Given the description of an element on the screen output the (x, y) to click on. 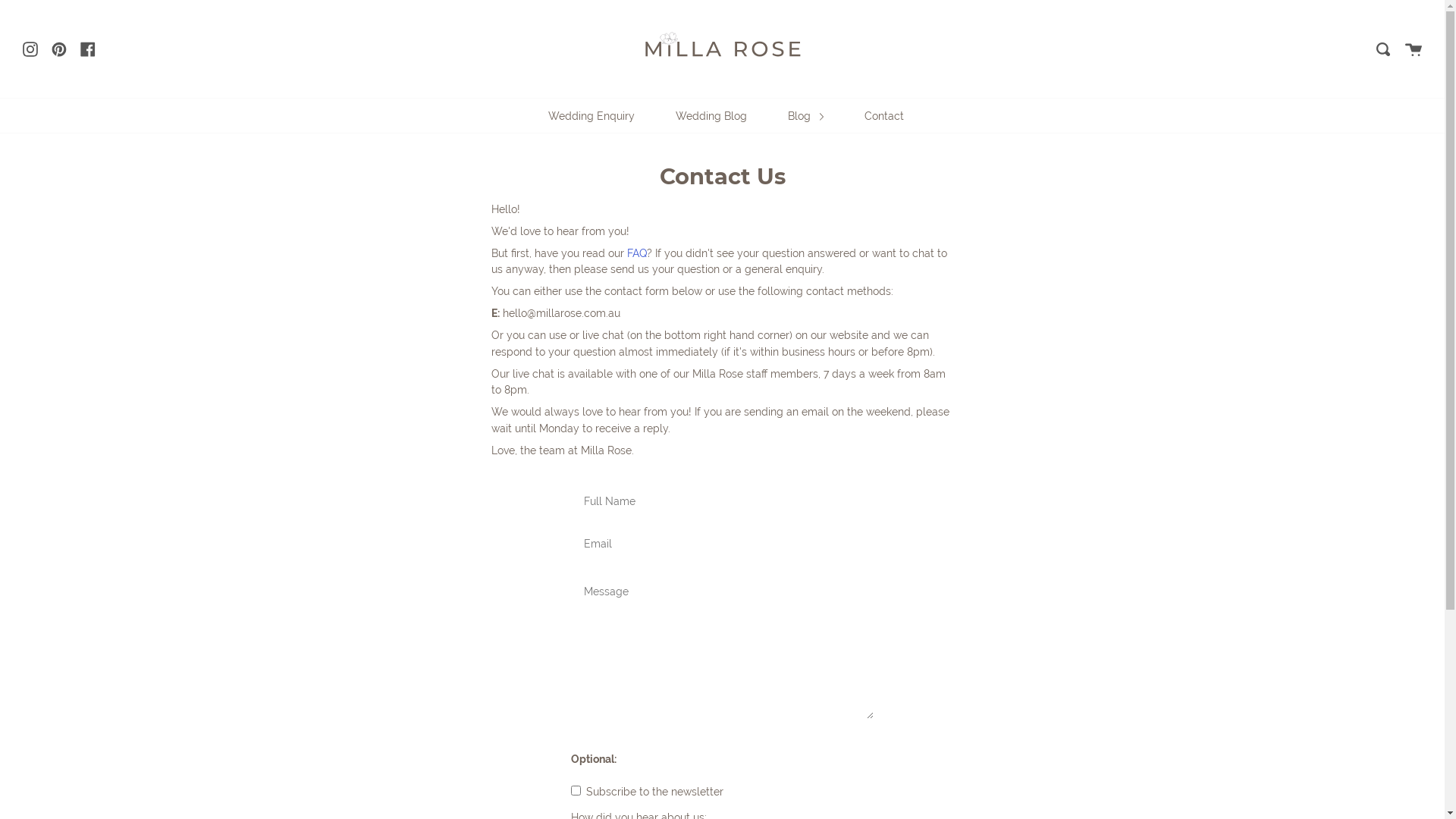
Wedding Blog Element type: text (710, 115)
FAQ Element type: text (636, 252)
Cart Element type: text (1413, 48)
Pinterest Element type: text (58, 48)
Instagram Element type: text (29, 48)
Contact Element type: text (883, 115)
Blog Element type: text (805, 115)
Wedding Enquiry Element type: text (591, 115)
Facebook Element type: text (87, 48)
Search Element type: text (1383, 48)
